Given the description of an element on the screen output the (x, y) to click on. 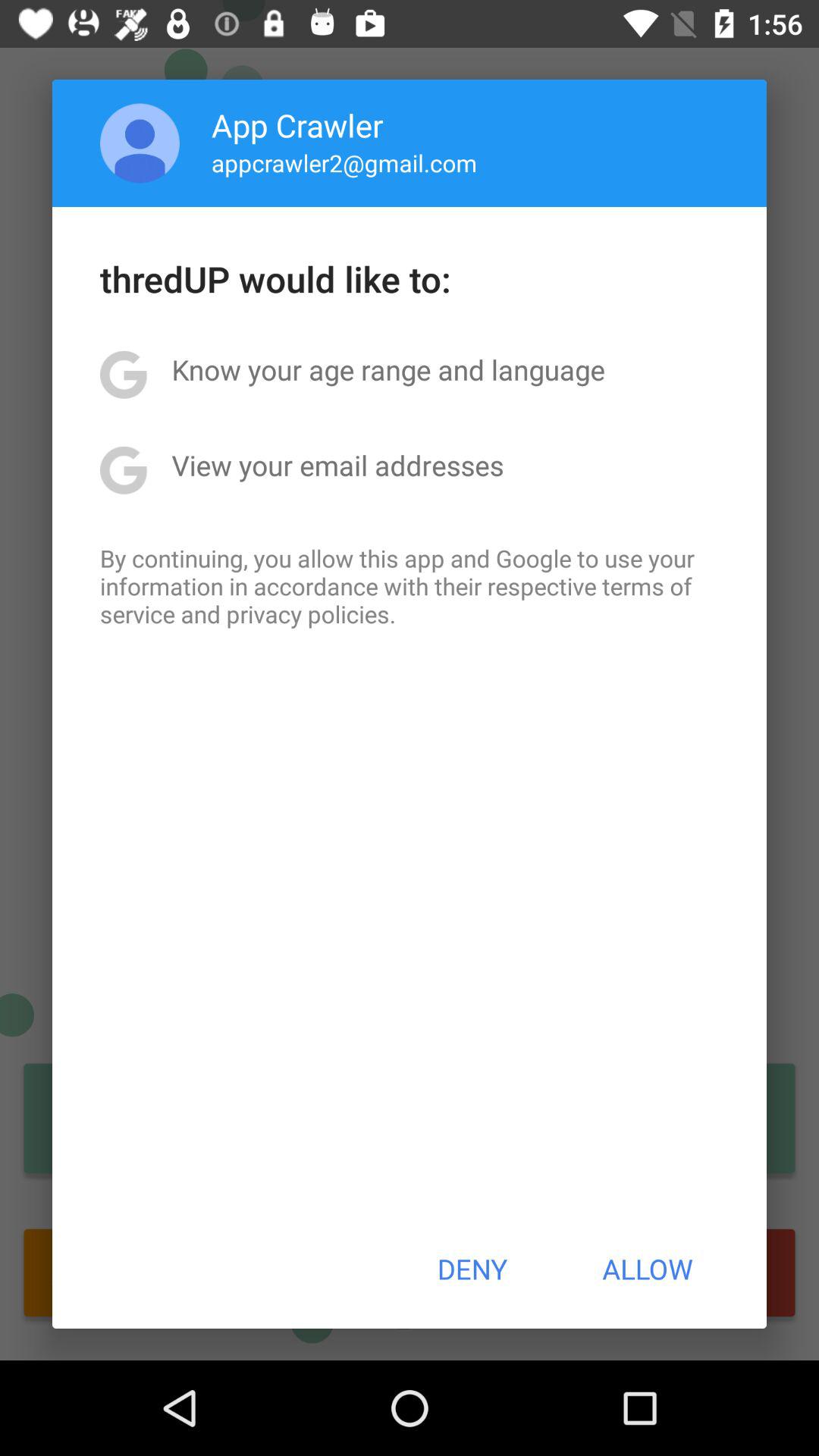
select icon above the view your email app (388, 369)
